Given the description of an element on the screen output the (x, y) to click on. 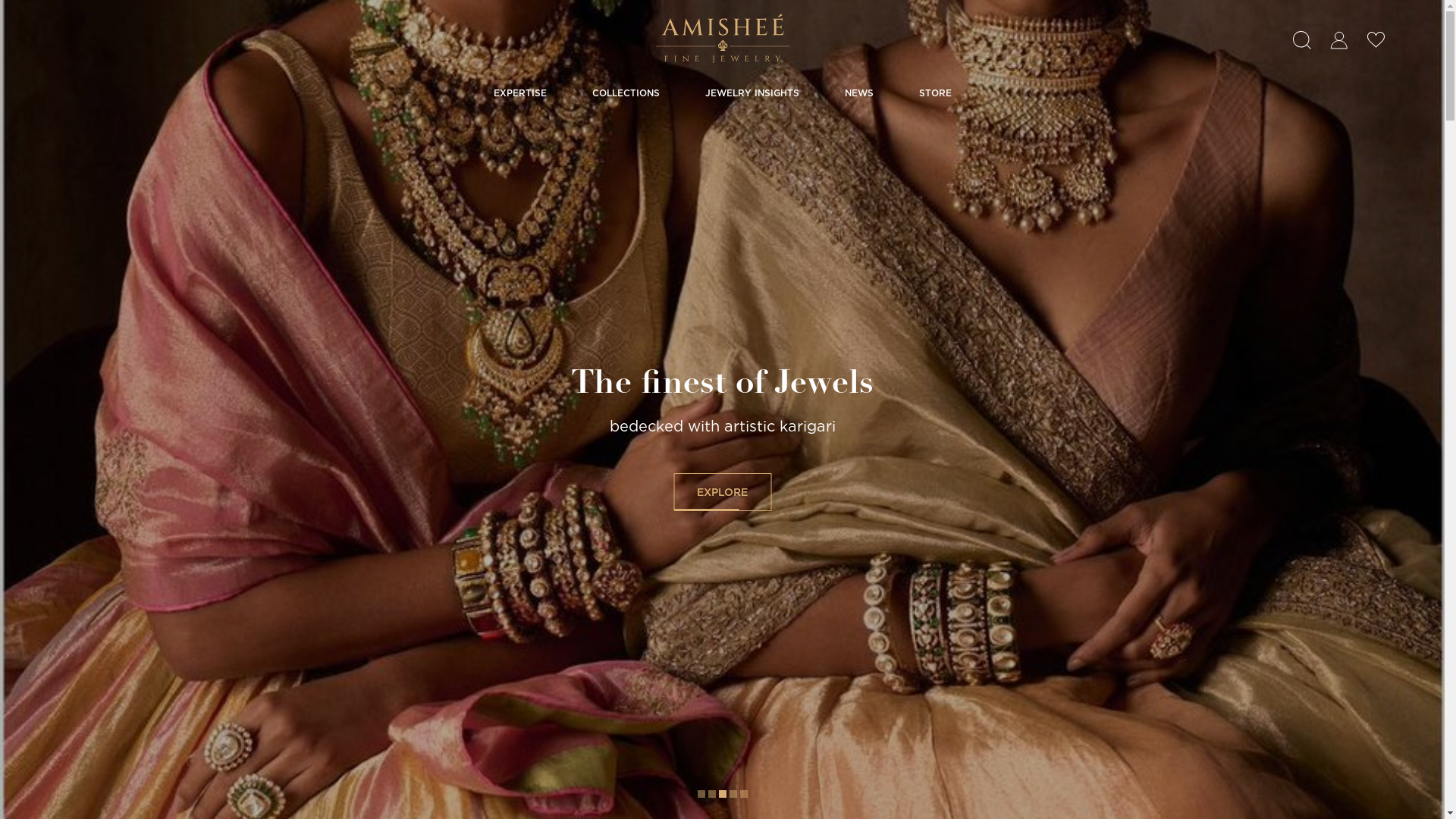
EXPLORE Element type: text (722, 492)
COLLECTIONS Element type: text (624, 92)
JEWELRY INSIGHTS Element type: text (752, 92)
EXPERTISE Element type: text (519, 92)
NEWS Element type: text (858, 92)
STORE Element type: text (935, 92)
